Given the description of an element on the screen output the (x, y) to click on. 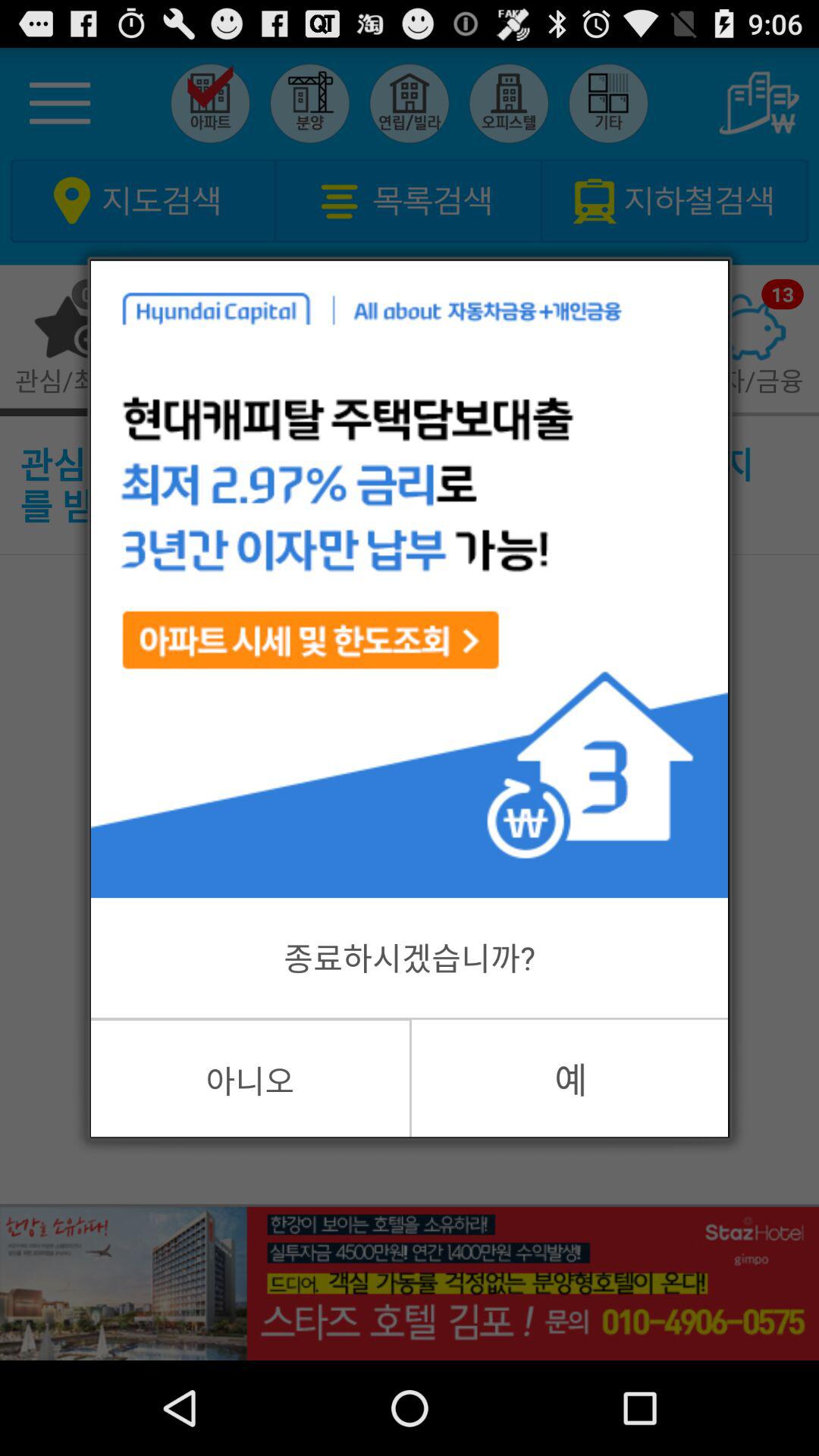
select icon at the bottom left corner (250, 1078)
